Given the description of an element on the screen output the (x, y) to click on. 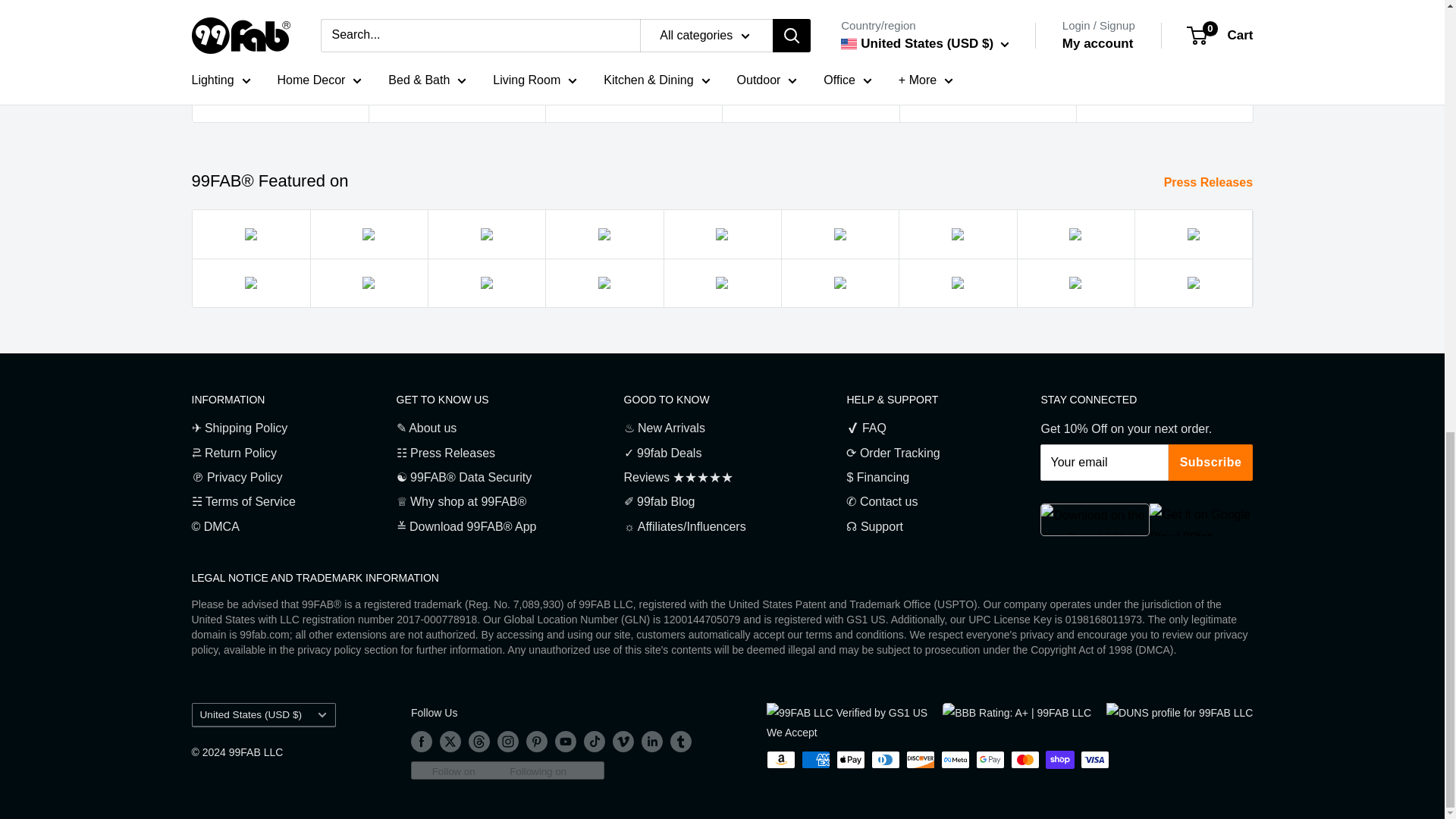
Download on the App Store (1095, 519)
DUNS profile for 99FAB LLC (1179, 712)
99FAB LLC Verified by GS1 US (847, 712)
Get it on Google Play (1201, 519)
